Given the description of an element on the screen output the (x, y) to click on. 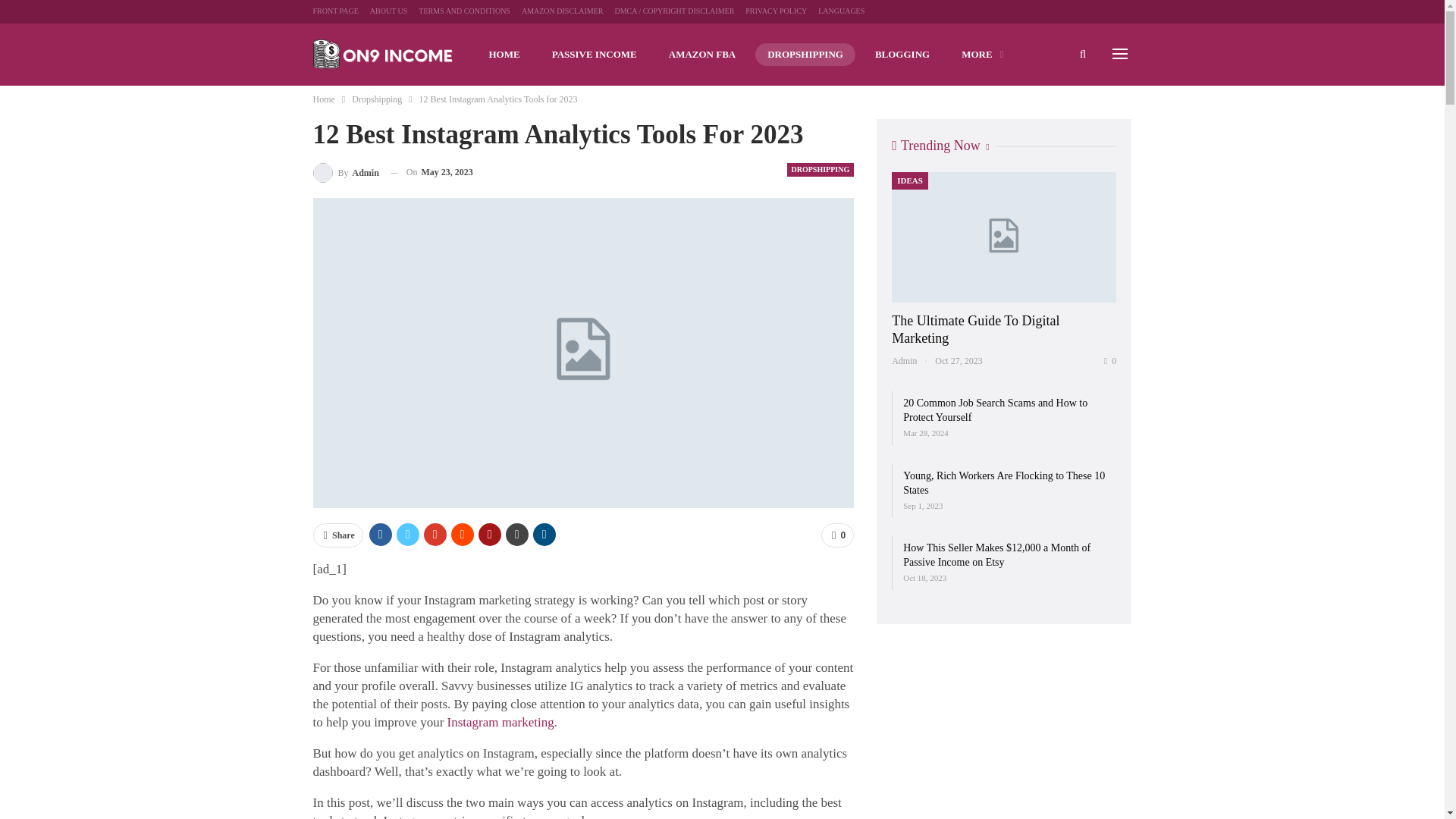
Dropshipping (376, 98)
DROPSHIPPING (820, 169)
ABOUT US (388, 10)
MORE (981, 54)
AMAZON FBA (702, 54)
Home (323, 98)
0 (837, 535)
TERMS AND CONDITIONS (465, 10)
By Admin (345, 172)
LANGUAGES (841, 10)
AMAZON DISCLAIMER (562, 10)
BLOGGING (902, 54)
HOME (503, 54)
DROPSHIPPING (805, 54)
PASSIVE INCOME (594, 54)
